Given the description of an element on the screen output the (x, y) to click on. 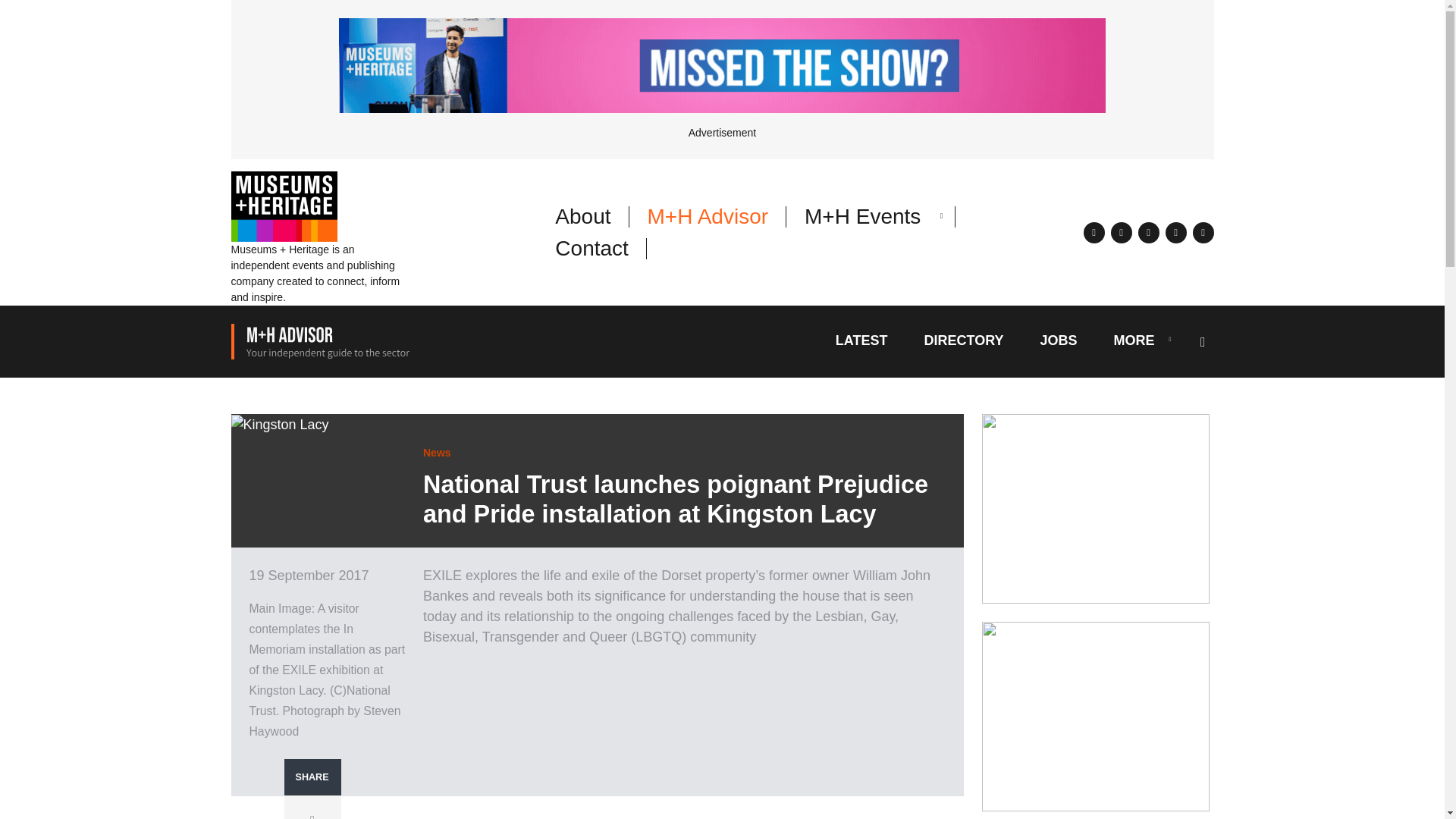
LATEST (861, 342)
Contact (591, 248)
Jobs (1058, 342)
linkedin (1147, 231)
x (1093, 231)
instagram (1175, 231)
DIRECTORY (963, 342)
SHARE (311, 777)
About (582, 216)
Twitter (311, 812)
Latest (861, 342)
More (1133, 342)
JOBS (1058, 342)
About (582, 216)
Contact (591, 248)
